Given the description of an element on the screen output the (x, y) to click on. 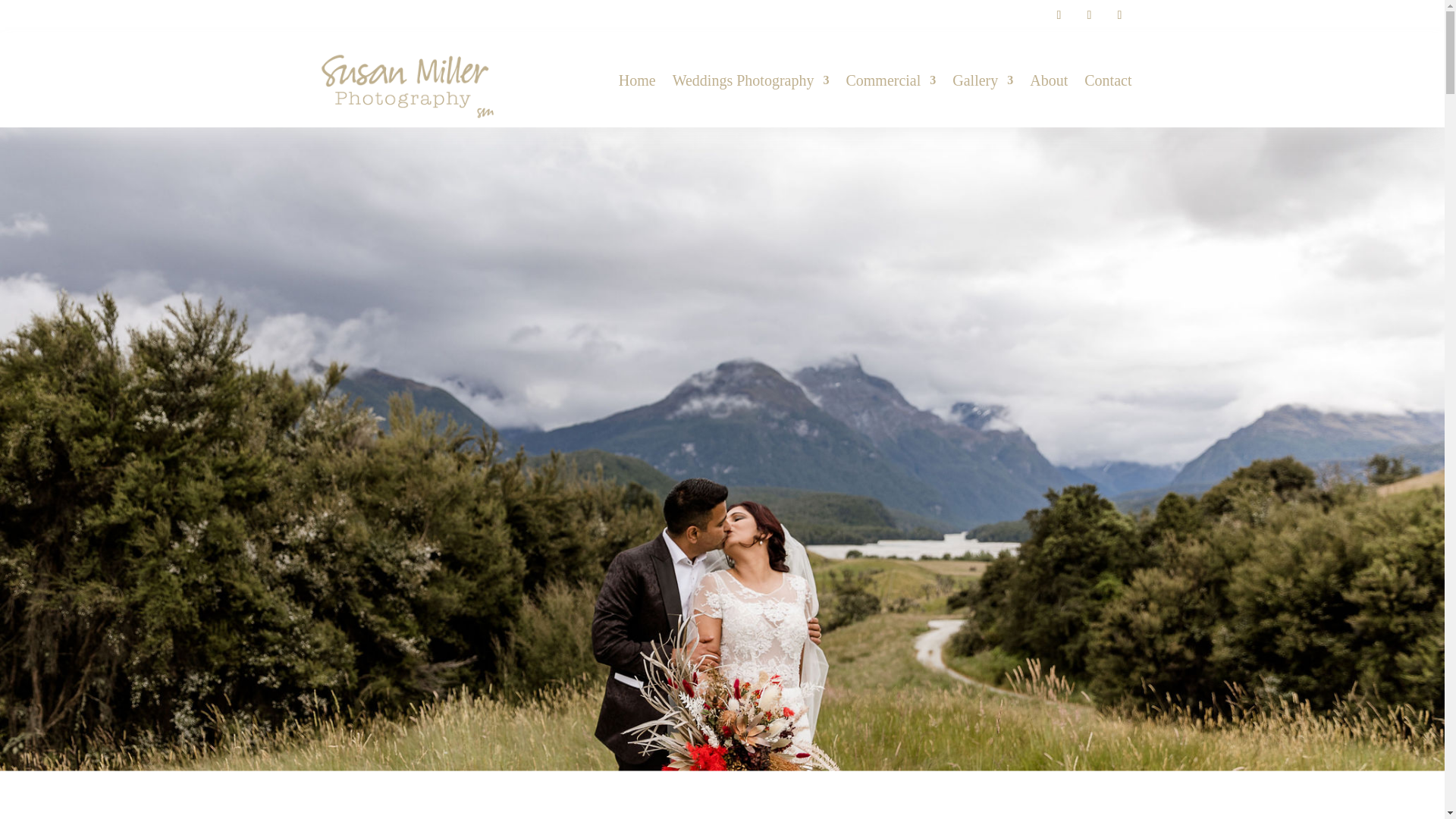
Follow on X (1118, 15)
Follow on Facebook (1058, 15)
Follow on Instagram (1088, 15)
Commercial (890, 80)
Weddings Photography (750, 80)
